Given the description of an element on the screen output the (x, y) to click on. 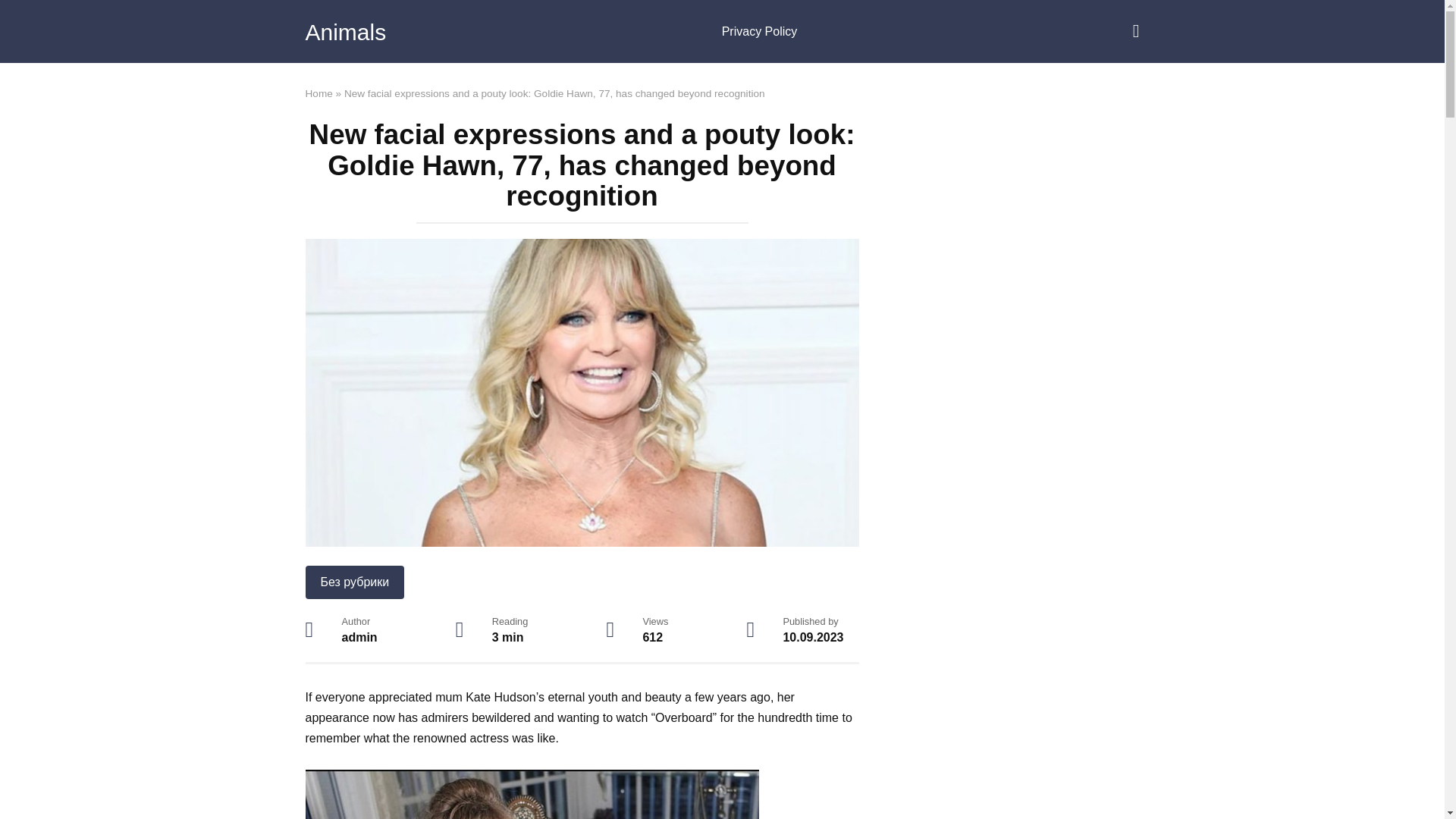
Home (317, 93)
Privacy Policy (759, 31)
Animals (344, 32)
